Given the description of an element on the screen output the (x, y) to click on. 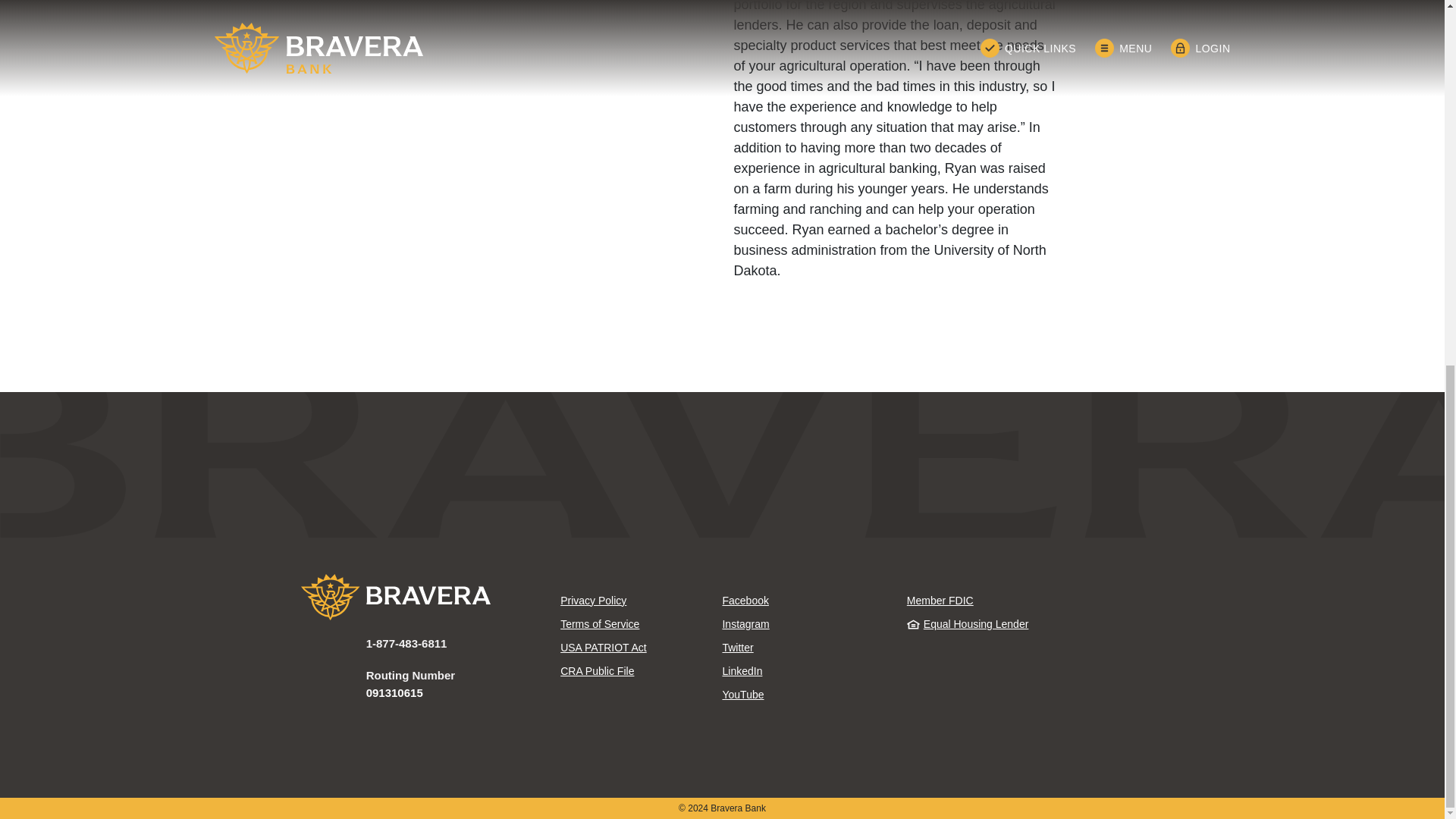
Twitter (802, 647)
LinkedIn (802, 671)
Instagram (802, 624)
Bravera Bank, Bismarck, ND (419, 596)
YouTube (802, 693)
Facebook (802, 600)
